Given the description of an element on the screen output the (x, y) to click on. 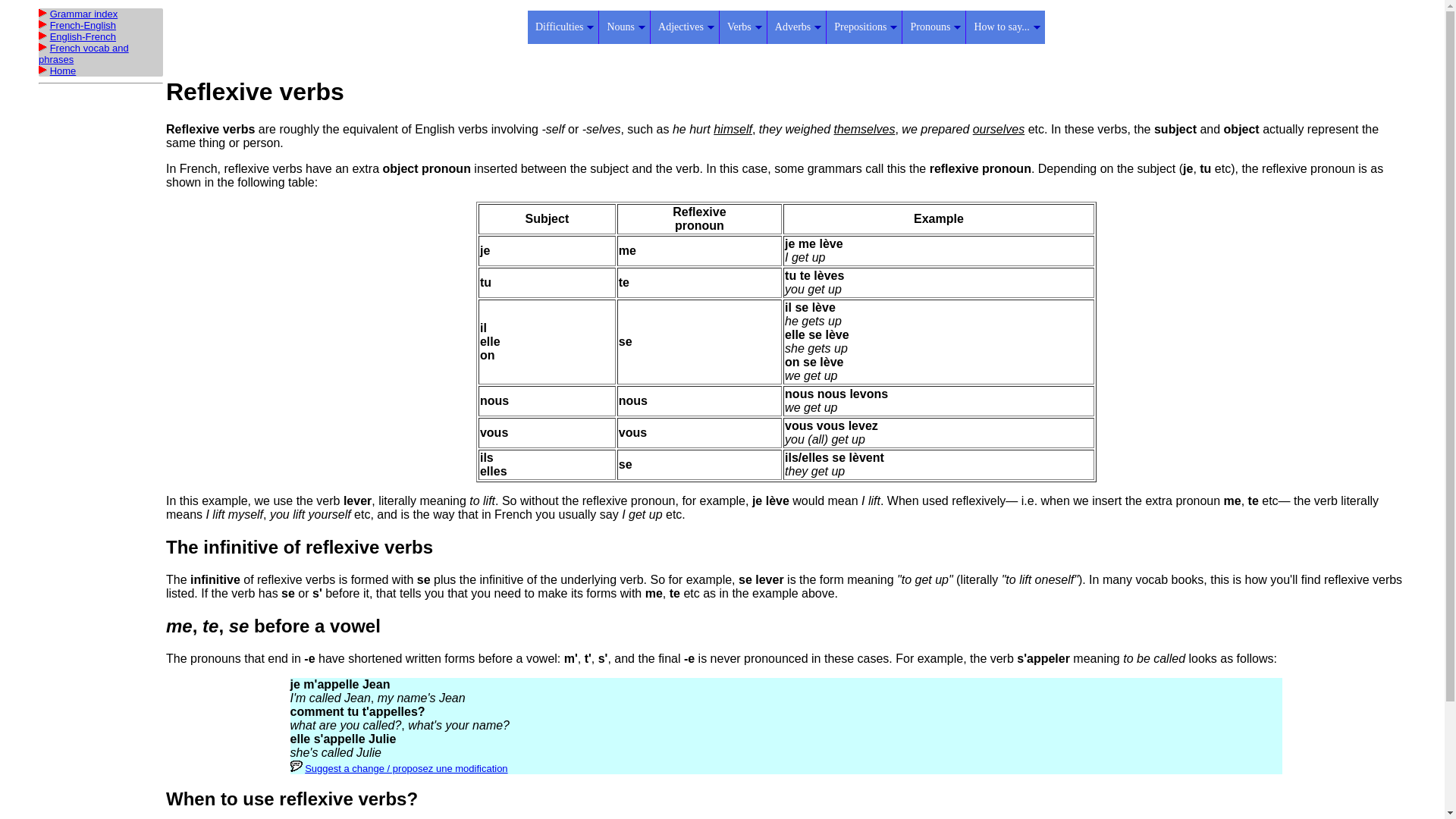
Pronouns (933, 27)
How to say... (1004, 27)
Adverbs (796, 27)
Prepositions (863, 27)
French-English (82, 25)
Home (63, 70)
Advertisement (786, 51)
Nouns (623, 27)
Difficulties (562, 27)
Grammar index (83, 13)
Verbs (743, 27)
English-French (82, 36)
French vocab and phrases (84, 53)
Adjectives (684, 27)
